Given the description of an element on the screen output the (x, y) to click on. 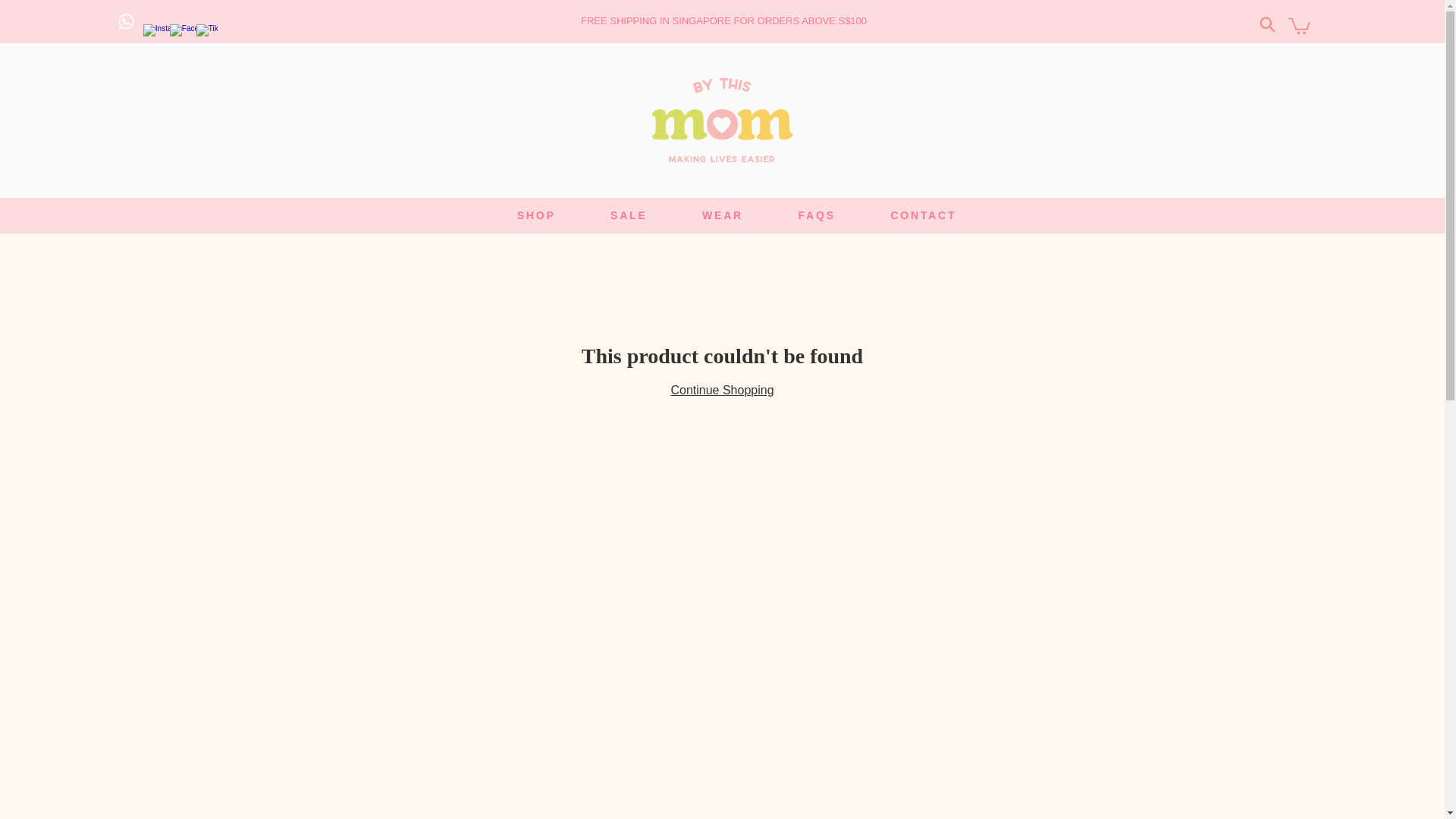
FAQS (816, 215)
SALE (628, 215)
WEAR (722, 215)
CONTACT (737, 215)
Continue Shopping (922, 215)
